Given the description of an element on the screen output the (x, y) to click on. 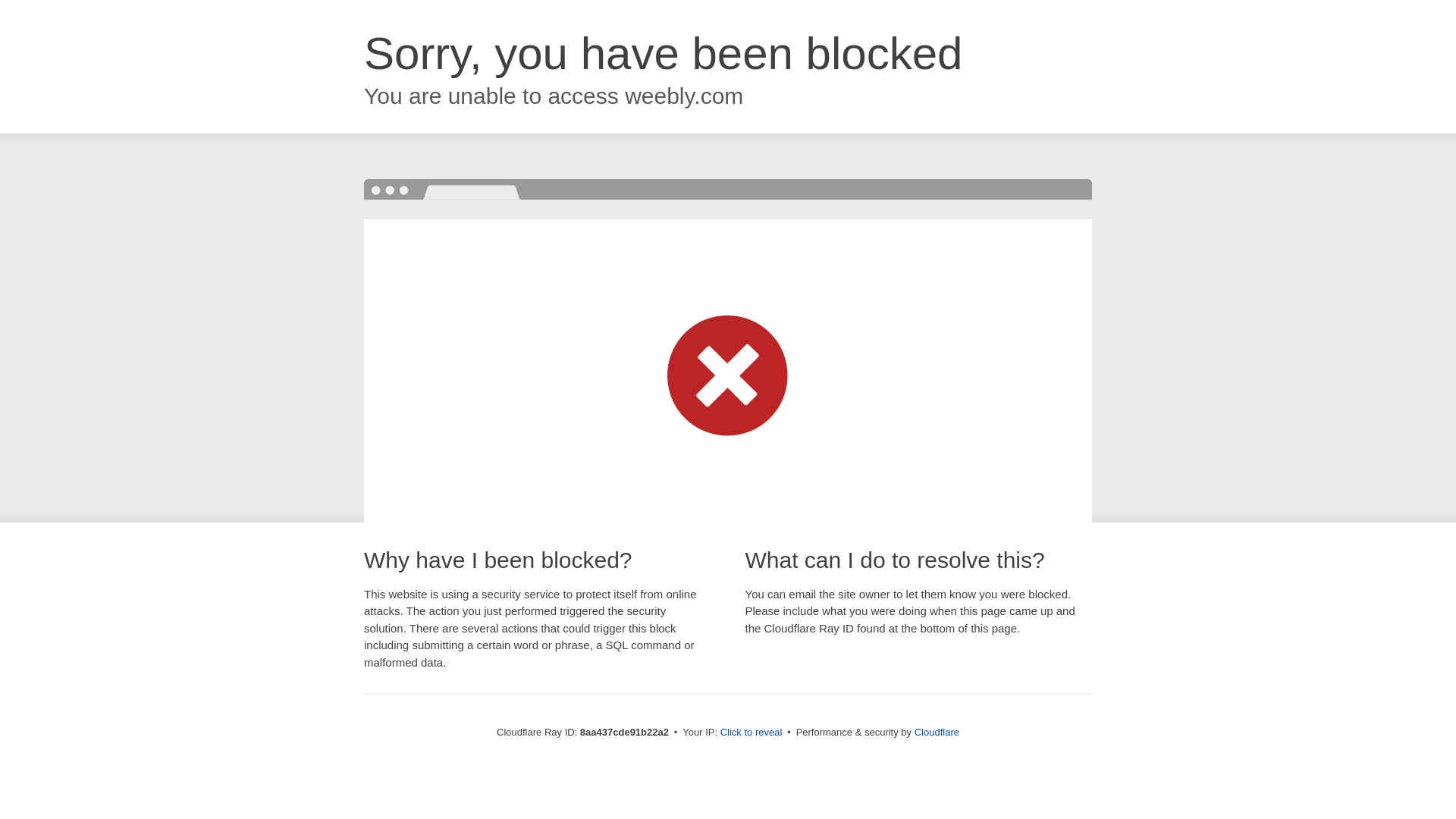
Cloudflare (936, 731)
Click to reveal (751, 732)
